Given the description of an element on the screen output the (x, y) to click on. 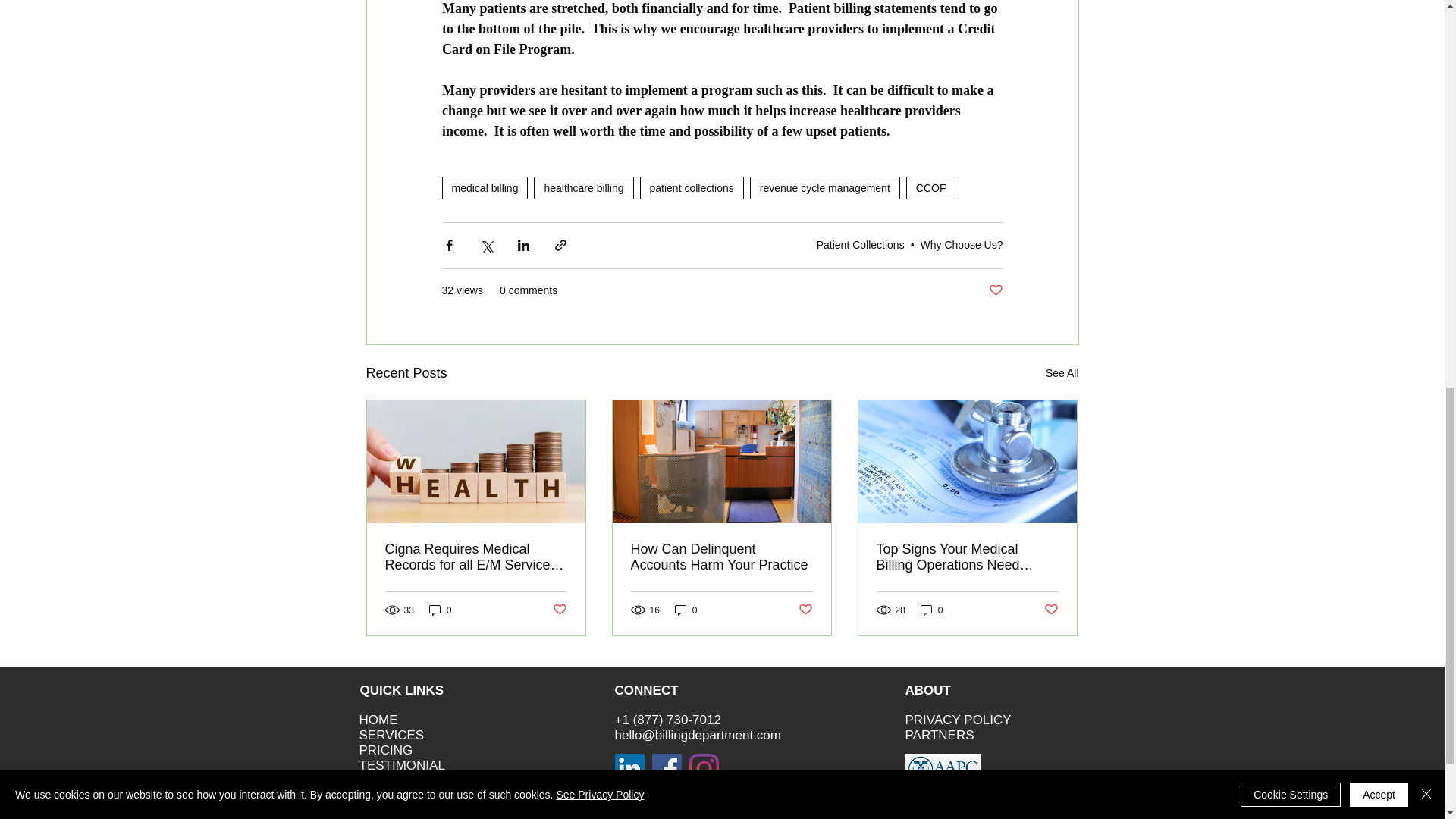
patient collections (692, 187)
CCOF (930, 187)
healthcare billing (583, 187)
revenue cycle management (824, 187)
medical billing (484, 187)
